Given the description of an element on the screen output the (x, y) to click on. 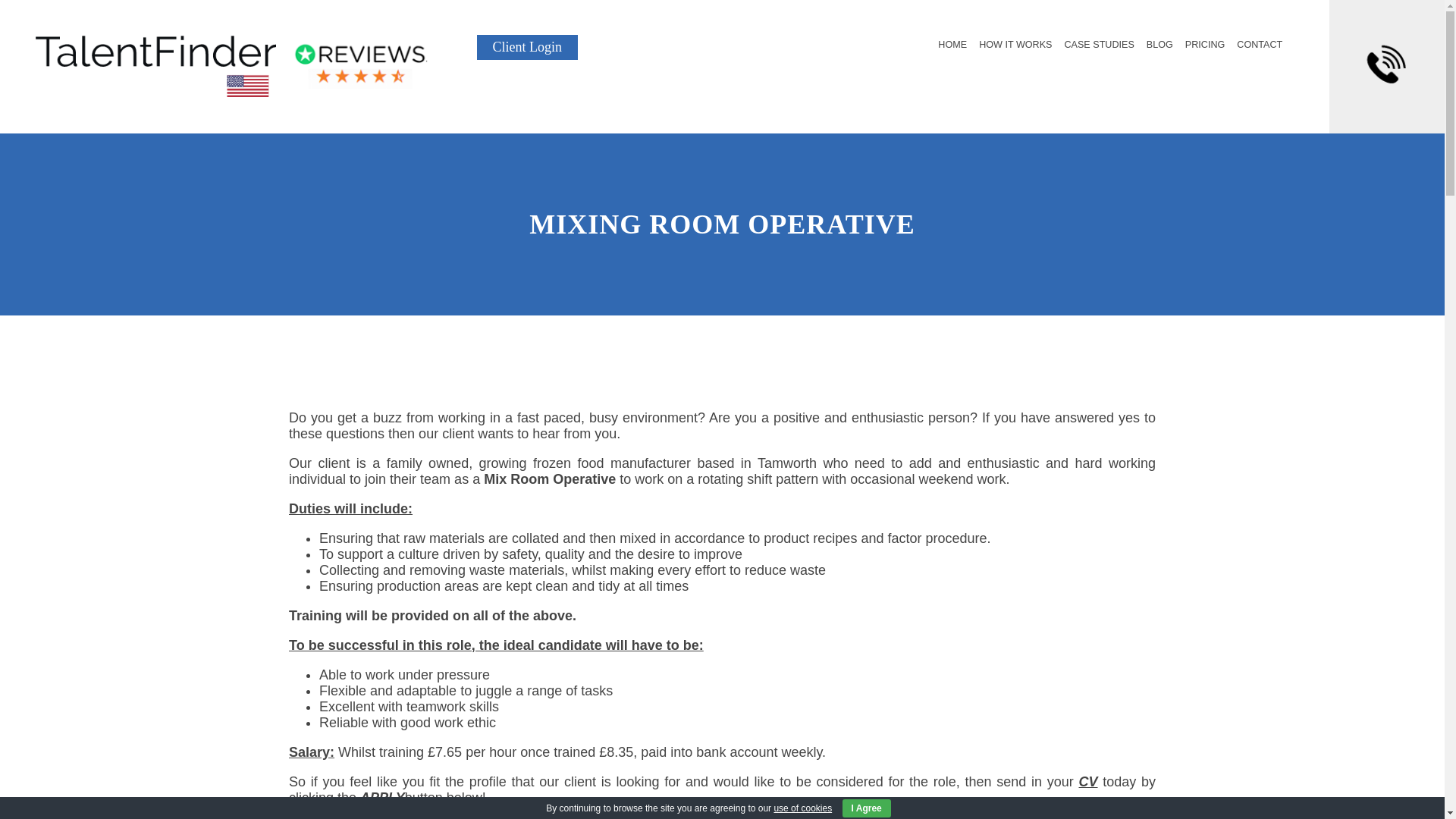
HOME (951, 44)
Client Login (527, 46)
PRICING (1204, 44)
use of cookies (802, 808)
HOW IT WORKS (1014, 44)
CASE STUDIES (1099, 44)
CONTACT (1259, 44)
I Agree (865, 808)
BLOG (1160, 44)
